Given the description of an element on the screen output the (x, y) to click on. 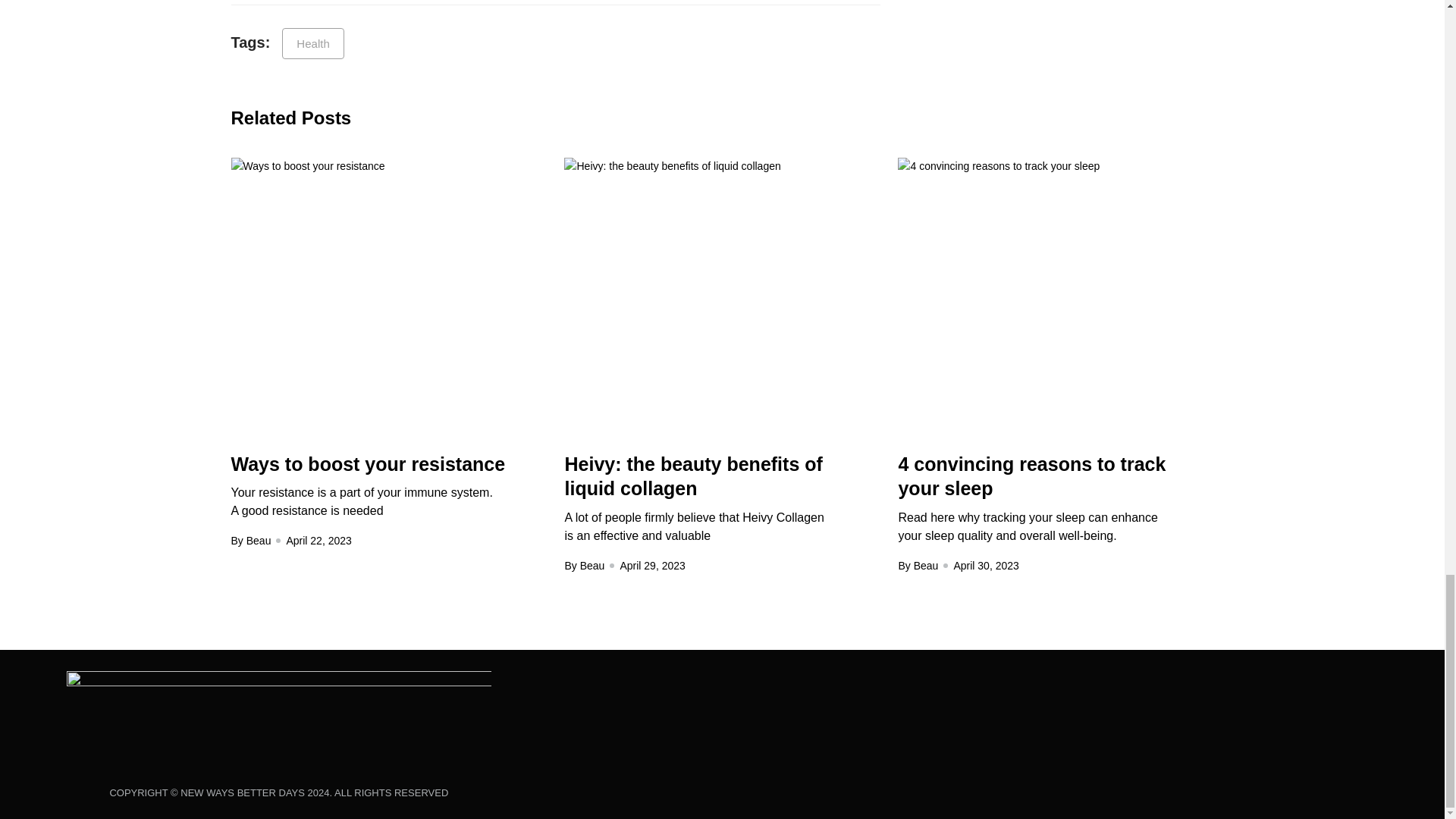
Health (312, 42)
